Given the description of an element on the screen output the (x, y) to click on. 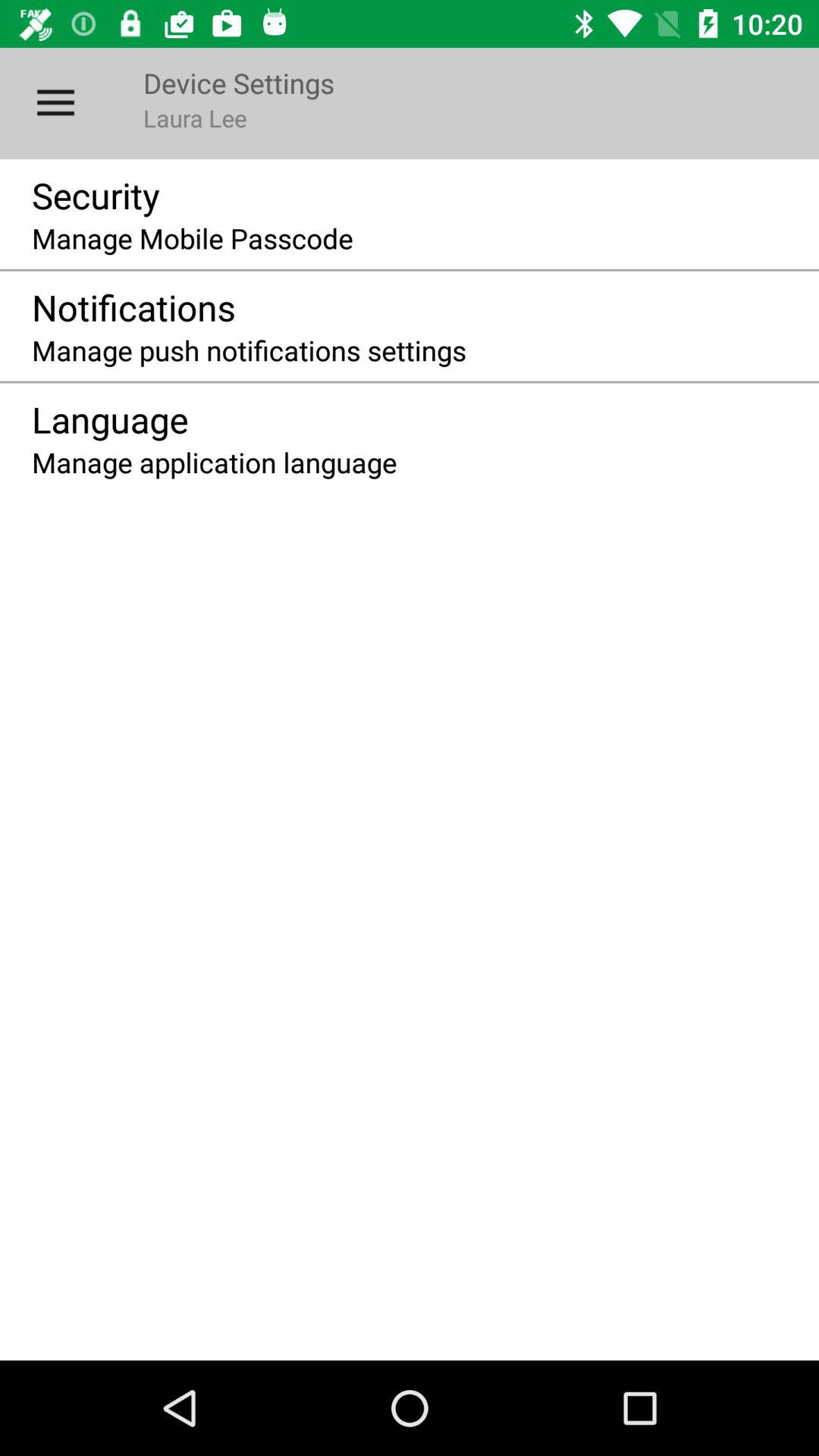
tap the icon above the security item (55, 103)
